Given the description of an element on the screen output the (x, y) to click on. 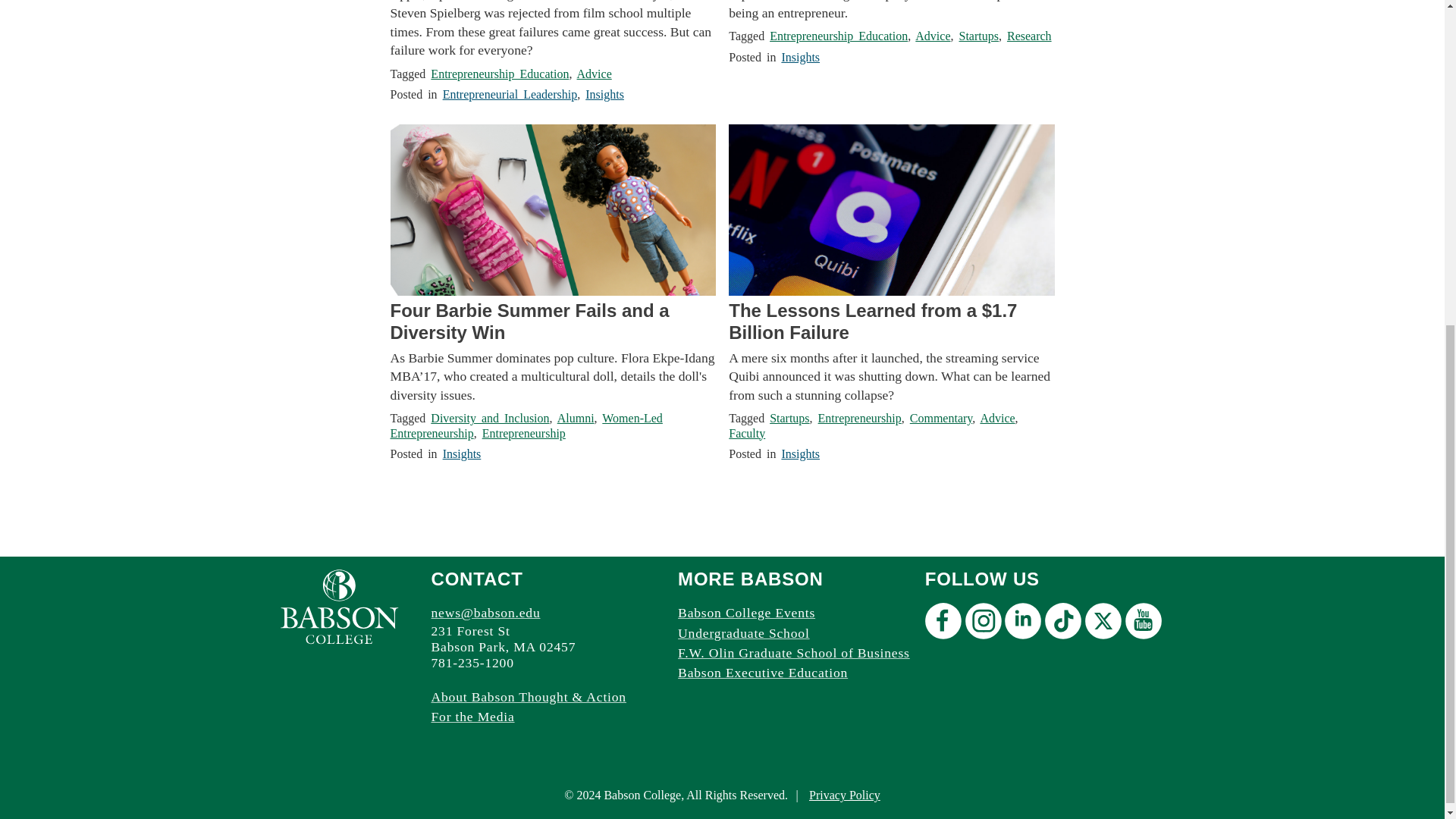
Babson CollegeWhite Babson logo with globe graphic (338, 606)
Startups (977, 35)
Research (1029, 35)
Alumni (575, 418)
Diversity and Inclusion (489, 418)
Entrepreneurship Education (499, 73)
Entrepreneurship Education (838, 35)
Advice (932, 35)
Entrepreneurial Leadership (510, 93)
Advice (593, 73)
